Given the description of an element on the screen output the (x, y) to click on. 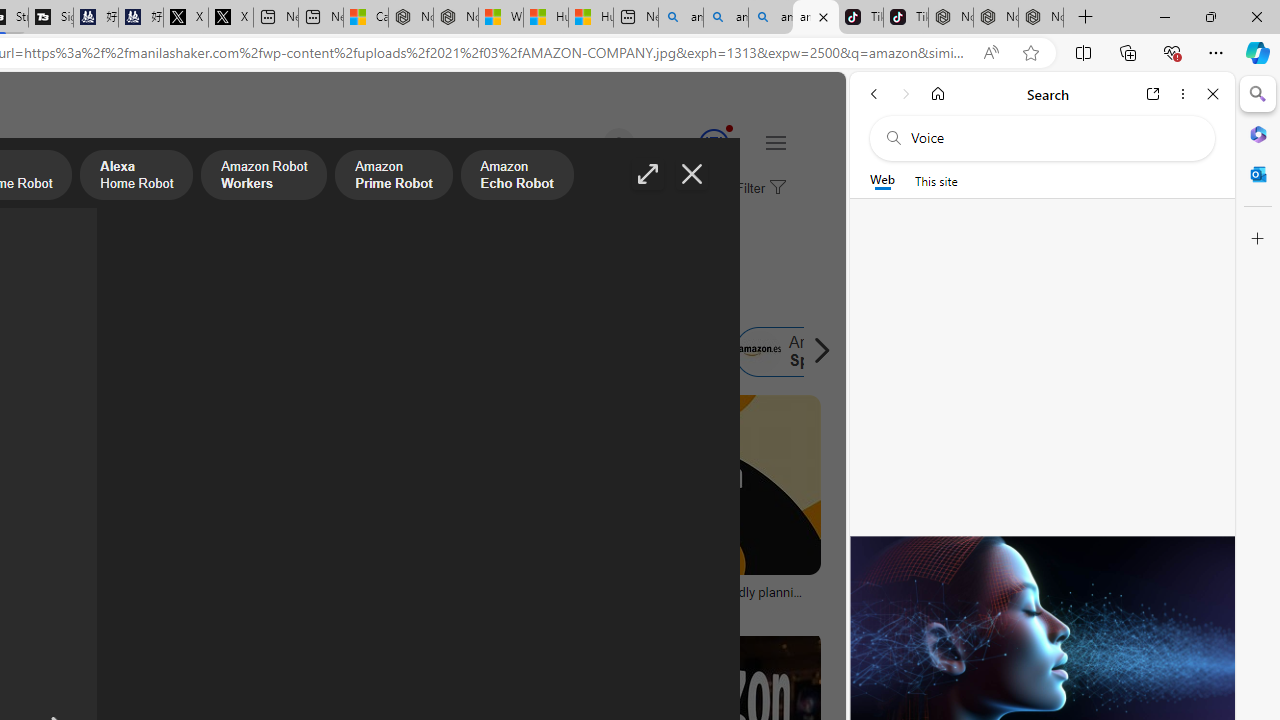
Amazon down? Current status and problems | Downdetector (368, 598)
Nordace - Siena Pro 15 Essential Set (1040, 17)
Amazon Spain (759, 351)
Open link in new tab (1153, 93)
Settings and quick links (775, 142)
Amazon Spain (800, 351)
downdetector.ae (368, 606)
Filter (758, 189)
